Given the description of an element on the screen output the (x, y) to click on. 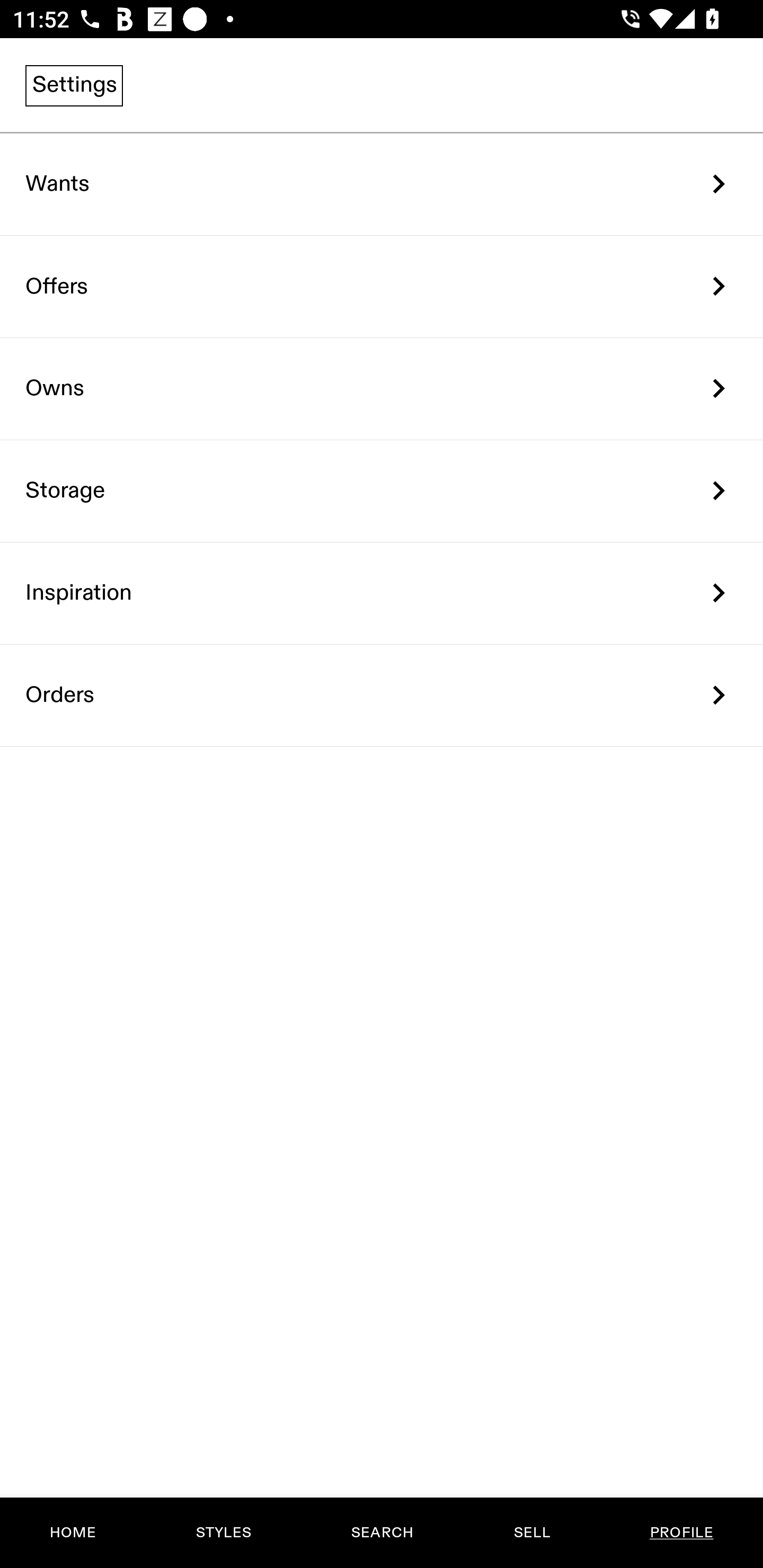
Settings (73, 85)
Wants (381, 184)
Offers (381, 286)
Owns (381, 388)
Storage (381, 491)
Inspiration (381, 593)
Orders (381, 695)
HOME (72, 1532)
STYLES (222, 1532)
SEARCH (381, 1532)
SELL (531, 1532)
PROFILE (681, 1532)
